Given the description of an element on the screen output the (x, y) to click on. 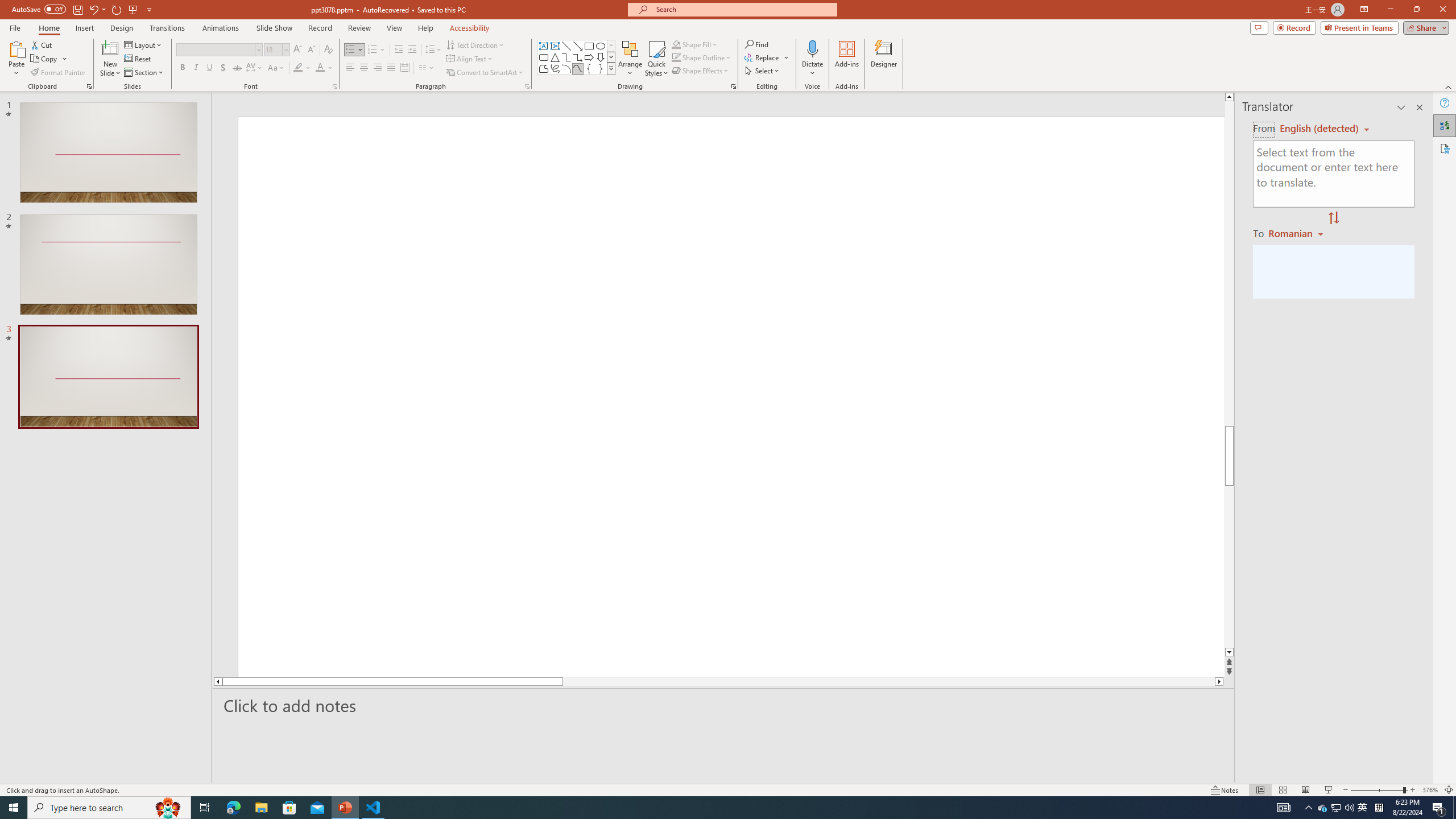
Find... (756, 44)
Copy (49, 58)
Strikethrough (237, 67)
Translator (1444, 125)
Connector: Elbow Arrow (577, 57)
Ribbon Display Options (1364, 9)
Oval (600, 45)
Dictate (812, 58)
Customize Quick Access Toolbar (149, 9)
Share (1423, 27)
Distributed (404, 67)
New Slide (110, 58)
Paste (16, 58)
Vertical Text Box (554, 45)
